Given the description of an element on the screen output the (x, y) to click on. 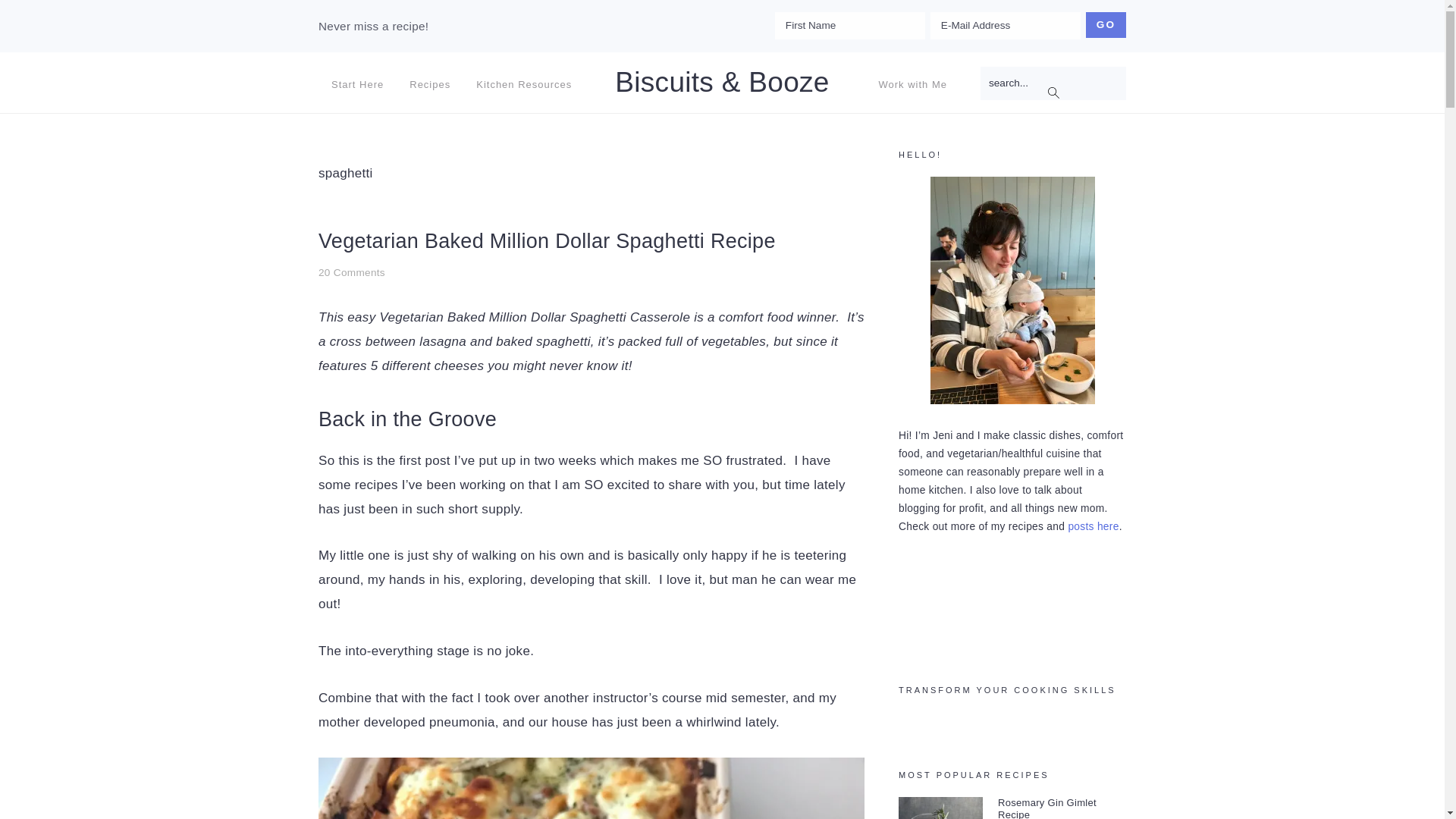
20 Comments (351, 272)
posts here (1092, 526)
Start Here (357, 84)
Kitchen Resources (524, 84)
Rosemary Gin Gimlet Recipe (1046, 807)
Go (1105, 24)
Work with Me (913, 84)
